Given the description of an element on the screen output the (x, y) to click on. 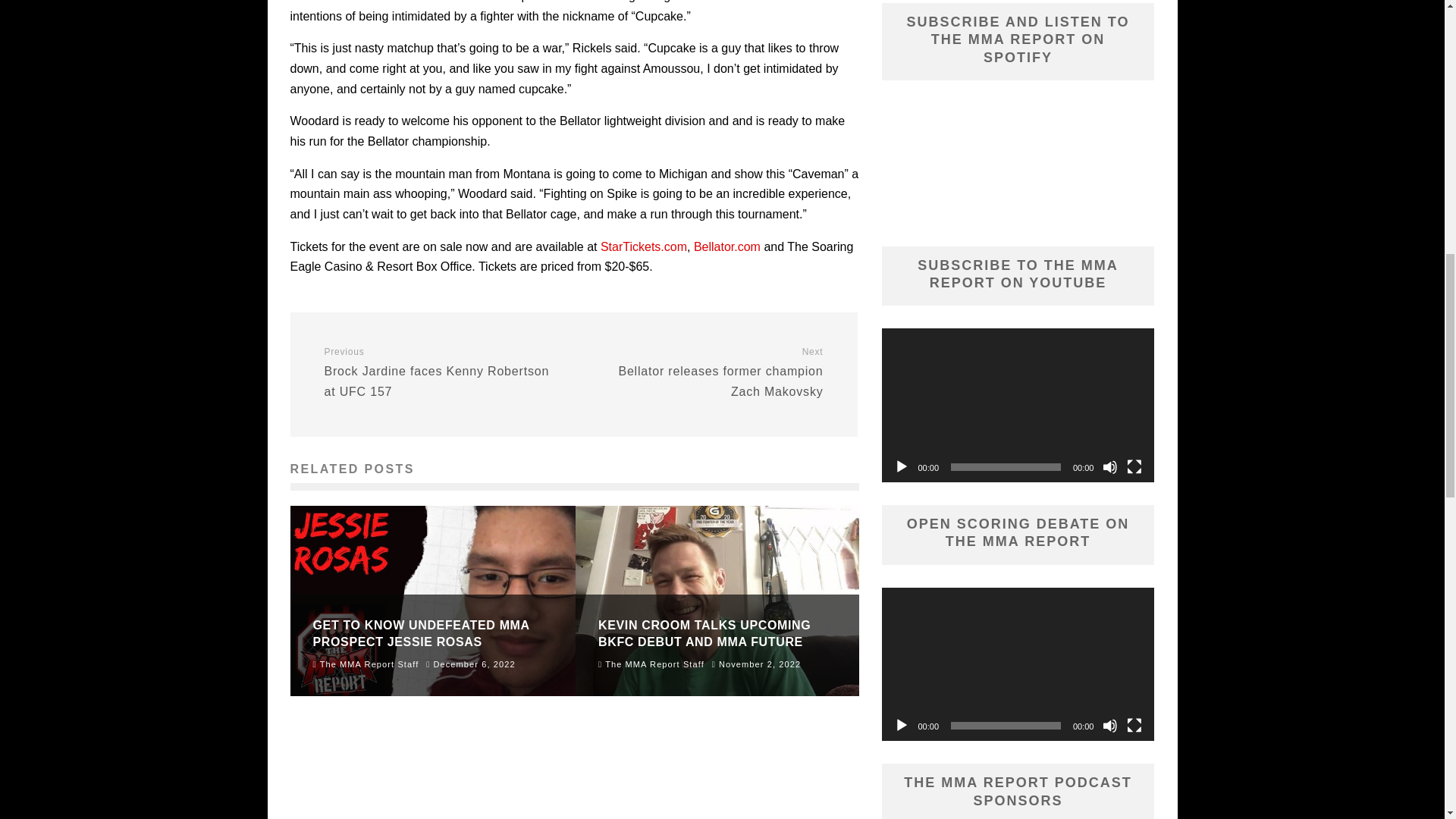
Mute (1110, 725)
The MMA Report Staff (704, 372)
Fullscreen (366, 664)
Play (1133, 467)
Mute (900, 467)
Play (1110, 467)
Fullscreen (443, 372)
StarTickets.com (900, 725)
GET TO KNOW UNDEFEATED MMA PROSPECT JESSIE ROSAS (1133, 725)
Bellator.com (643, 246)
